Given the description of an element on the screen output the (x, y) to click on. 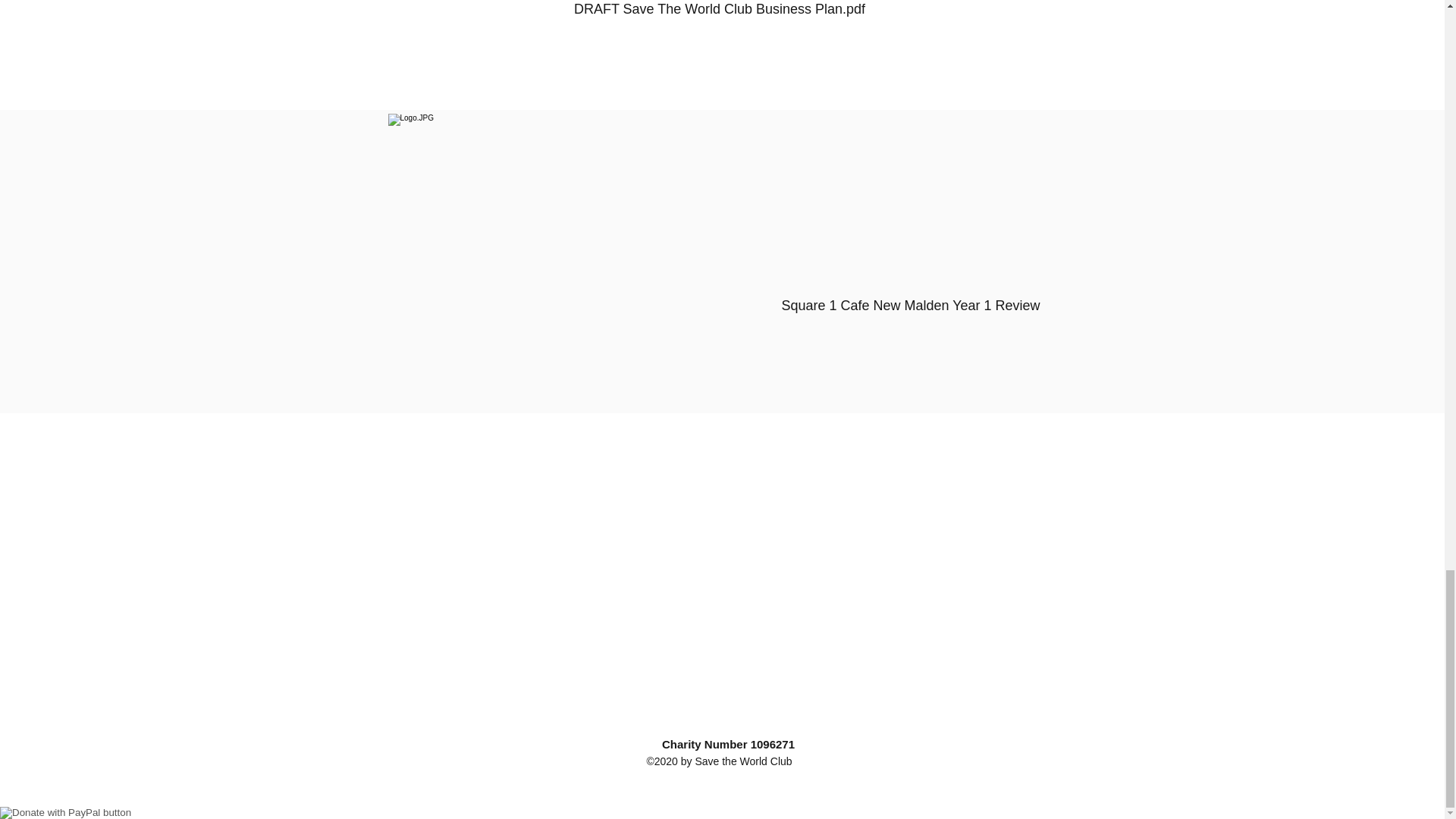
Square 1 Cafe New Malden Year 1 Review (910, 261)
Square 1 Cafe New Malden Year 1 Review (910, 261)
DRAFT Save The World Club Business Plan.pdf (719, 12)
DRAFT Save The World Club Business Plan.pdf (719, 12)
